Given the description of an element on the screen output the (x, y) to click on. 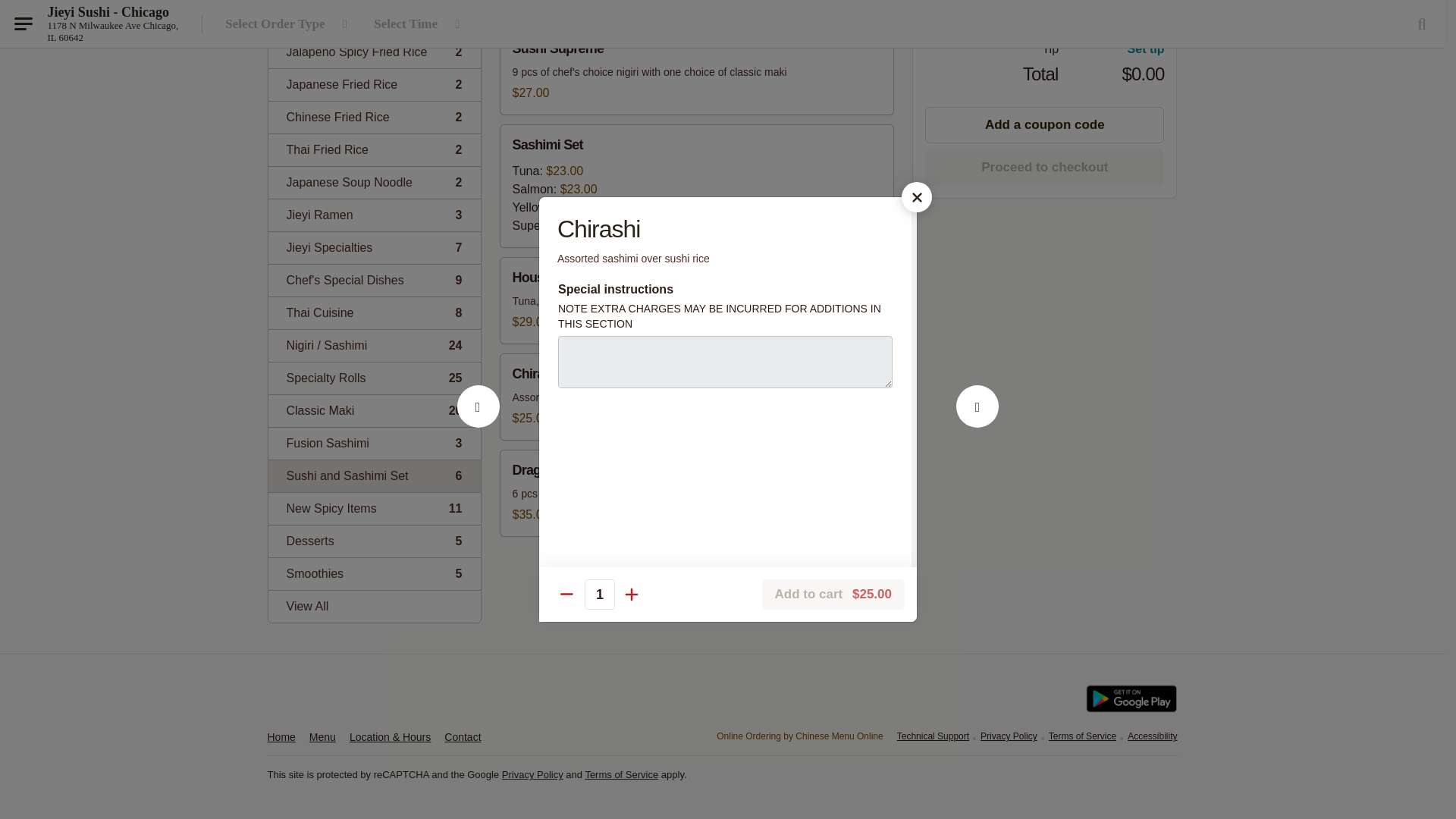
1 (373, 214)
Add tip (373, 279)
Proceed to checkout (373, 116)
